Given the description of an element on the screen output the (x, y) to click on. 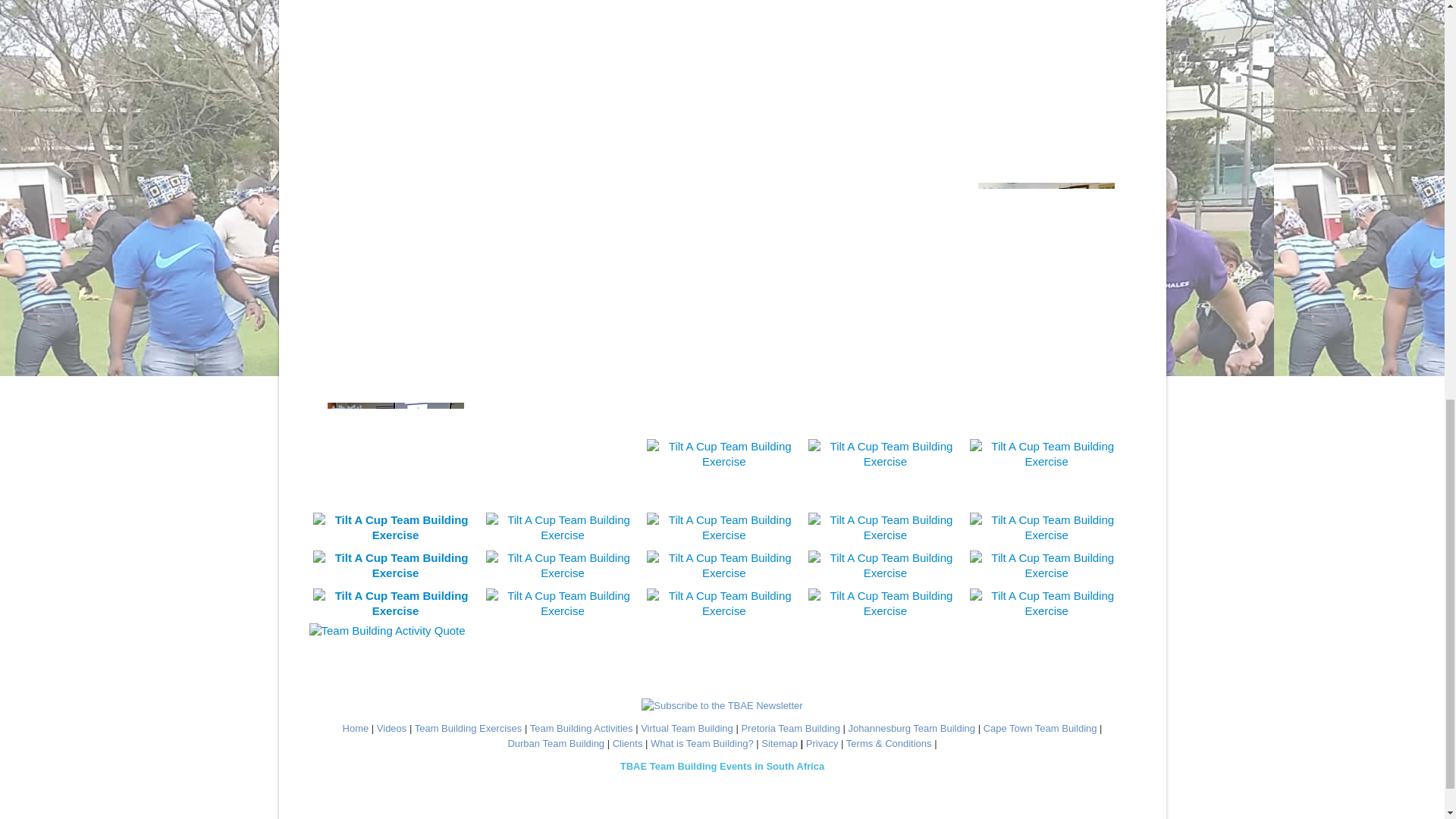
Team Building Activities (581, 727)
Team Building Activities Videos (392, 727)
TBAE Home Page (355, 727)
Team Building Exercises (468, 727)
Team Building Clients of TBAE (627, 743)
Team Building in Cape Town (1040, 727)
Virtual Team Building Events - Remote Team Building (686, 727)
Team Building in Durban (555, 743)
Team Building in Johannesburg (911, 727)
Team Building in Pretoria (790, 727)
